Given the description of an element on the screen output the (x, y) to click on. 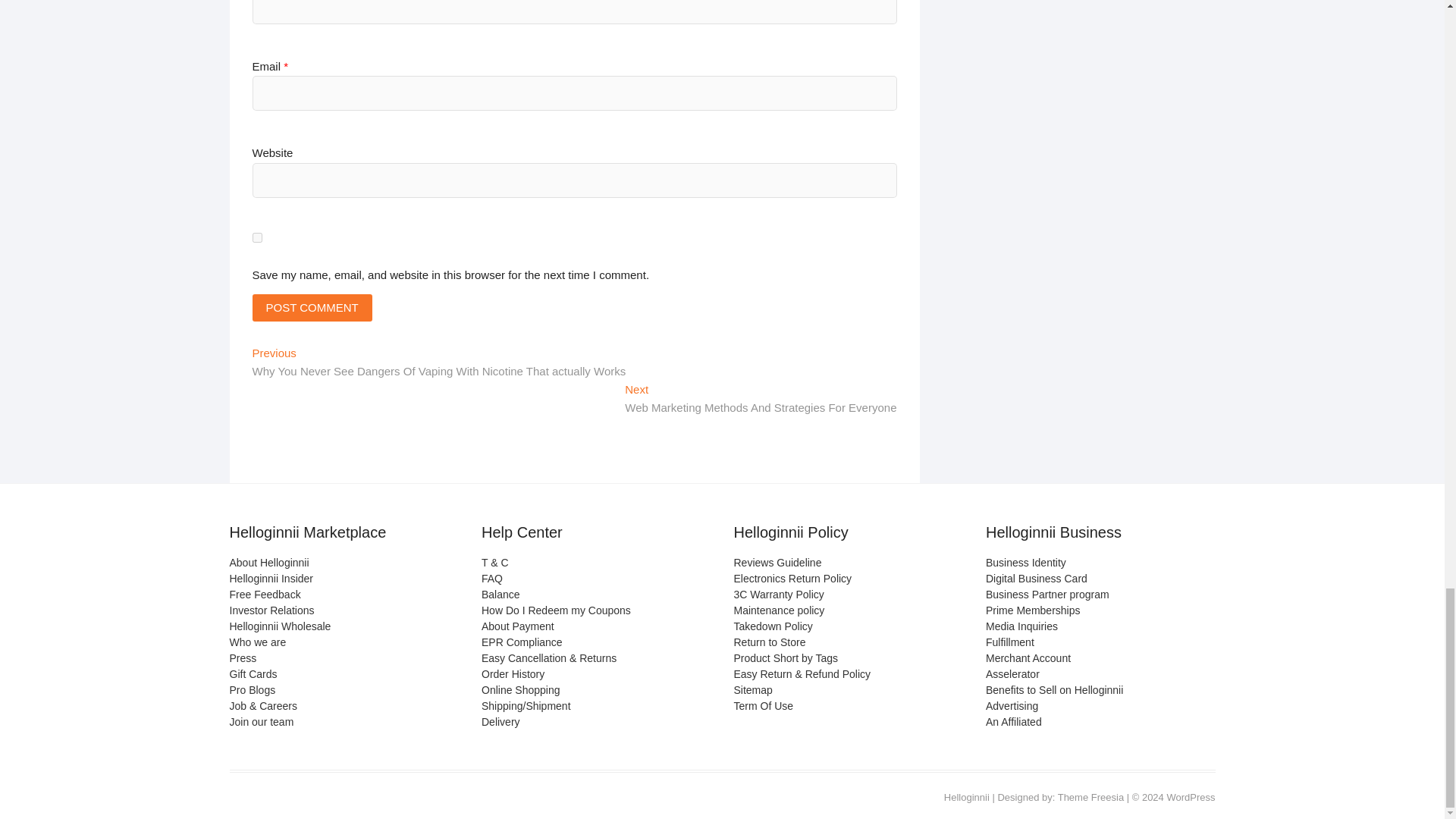
WordPress (1190, 797)
yes (256, 237)
Post Comment (311, 307)
Theme Freesia (1091, 797)
Helloginnii (966, 797)
